Given the description of an element on the screen output the (x, y) to click on. 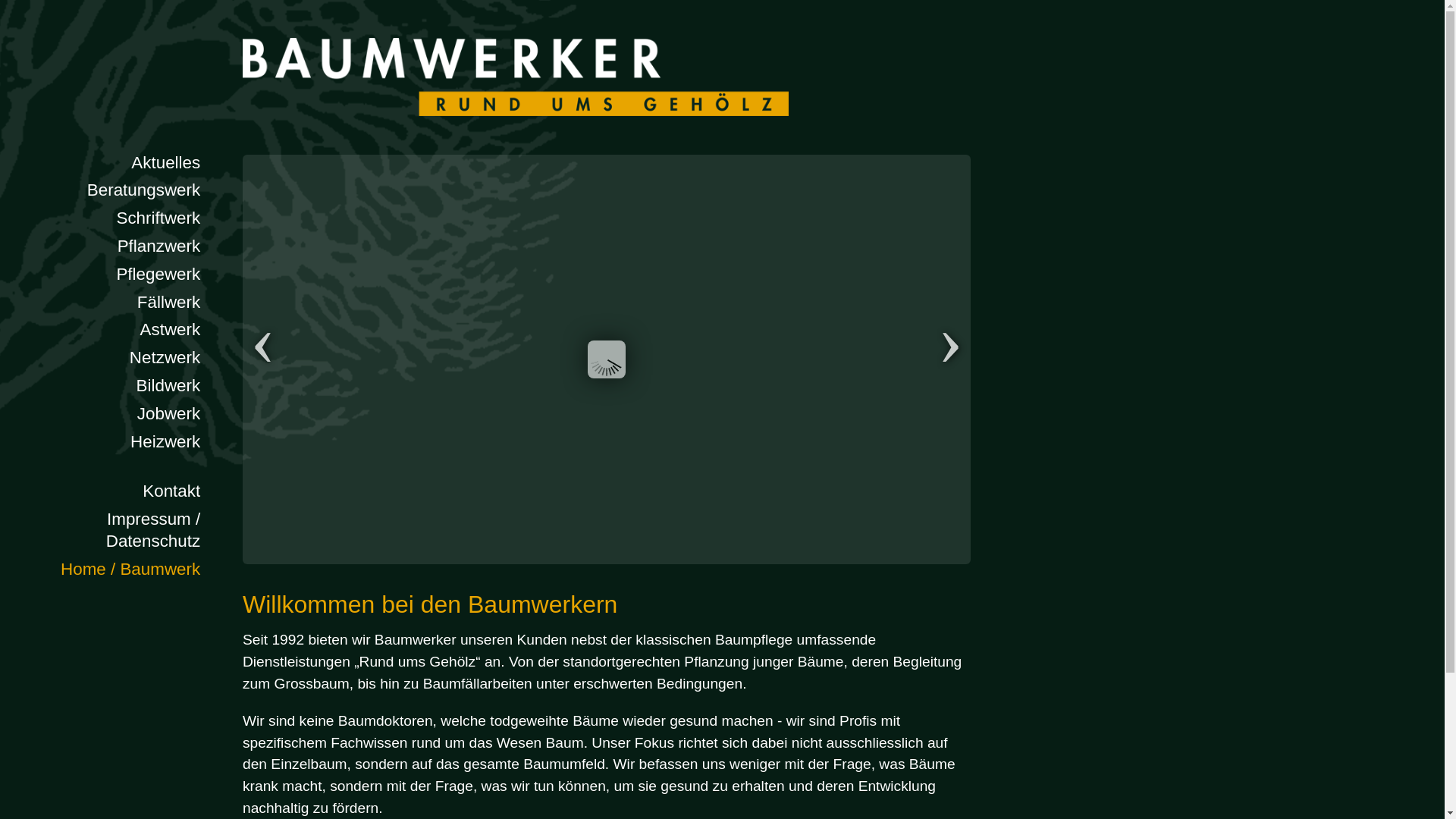
Jobwerk Element type: text (107, 414)
Netzwerk Element type: text (107, 358)
Astwerk Element type: text (107, 330)
Pflegewerk Element type: text (107, 274)
Heizwerk Element type: text (107, 442)
Kontakt Element type: text (107, 491)
Aktuelles Element type: text (107, 163)
Impressum / Datenschutz Element type: text (107, 530)
Pflanzwerk Element type: text (107, 246)
Home / Baumwerk Element type: text (107, 569)
Schriftwerk Element type: text (107, 218)
Beratungswerk Element type: text (107, 190)
Bildwerk Element type: text (107, 386)
